Given the description of an element on the screen output the (x, y) to click on. 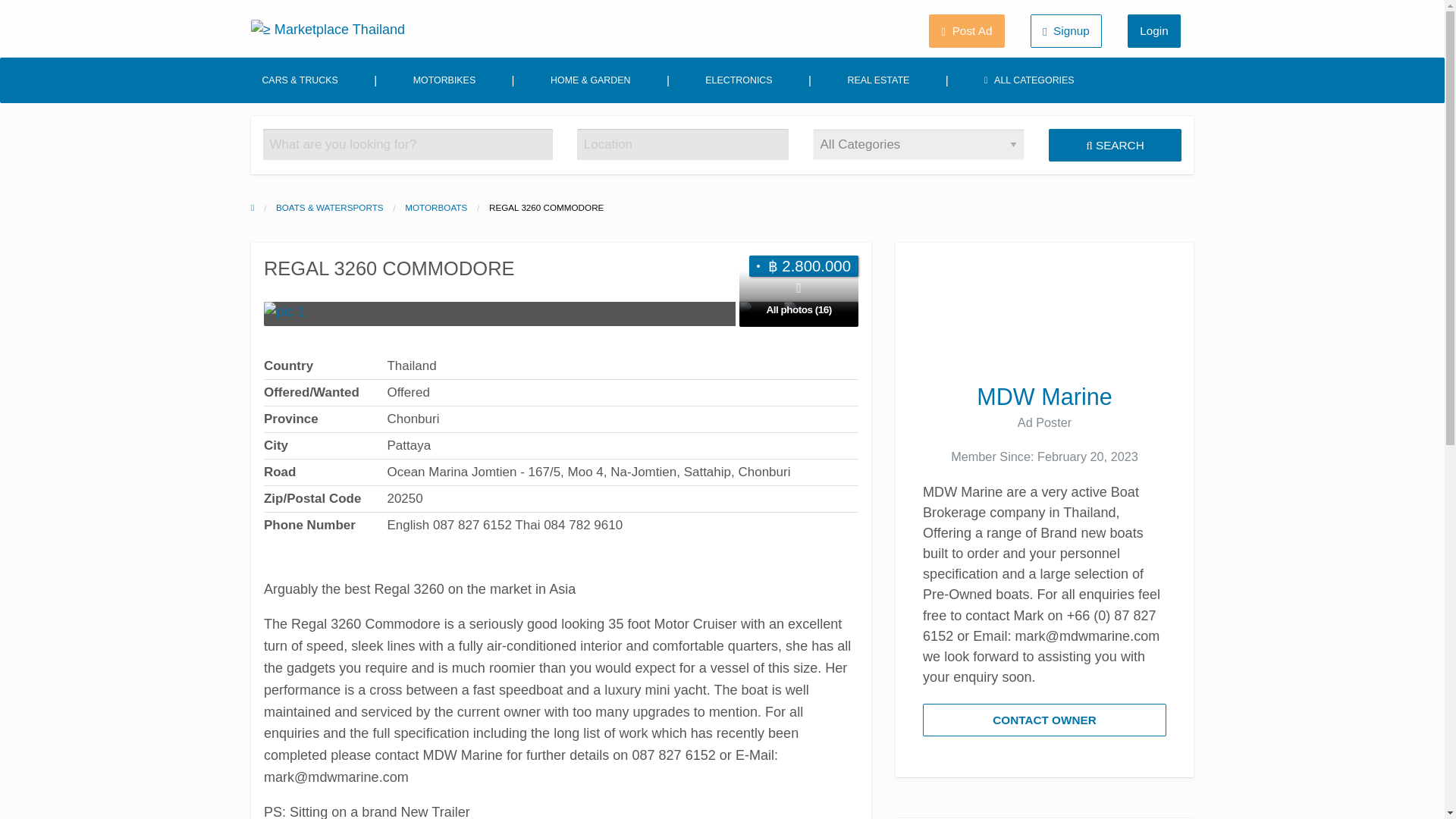
REAL ESTATE (502, 98)
ELECTRONICS (344, 97)
ALL CATEGORIES (655, 97)
ALL CATEGORIES (656, 97)
ELECTRONICS (343, 97)
MOTORBIKES (48, 97)
MOTORBIKES (41, 97)
REAL ESTATE (503, 98)
